Given the description of an element on the screen output the (x, y) to click on. 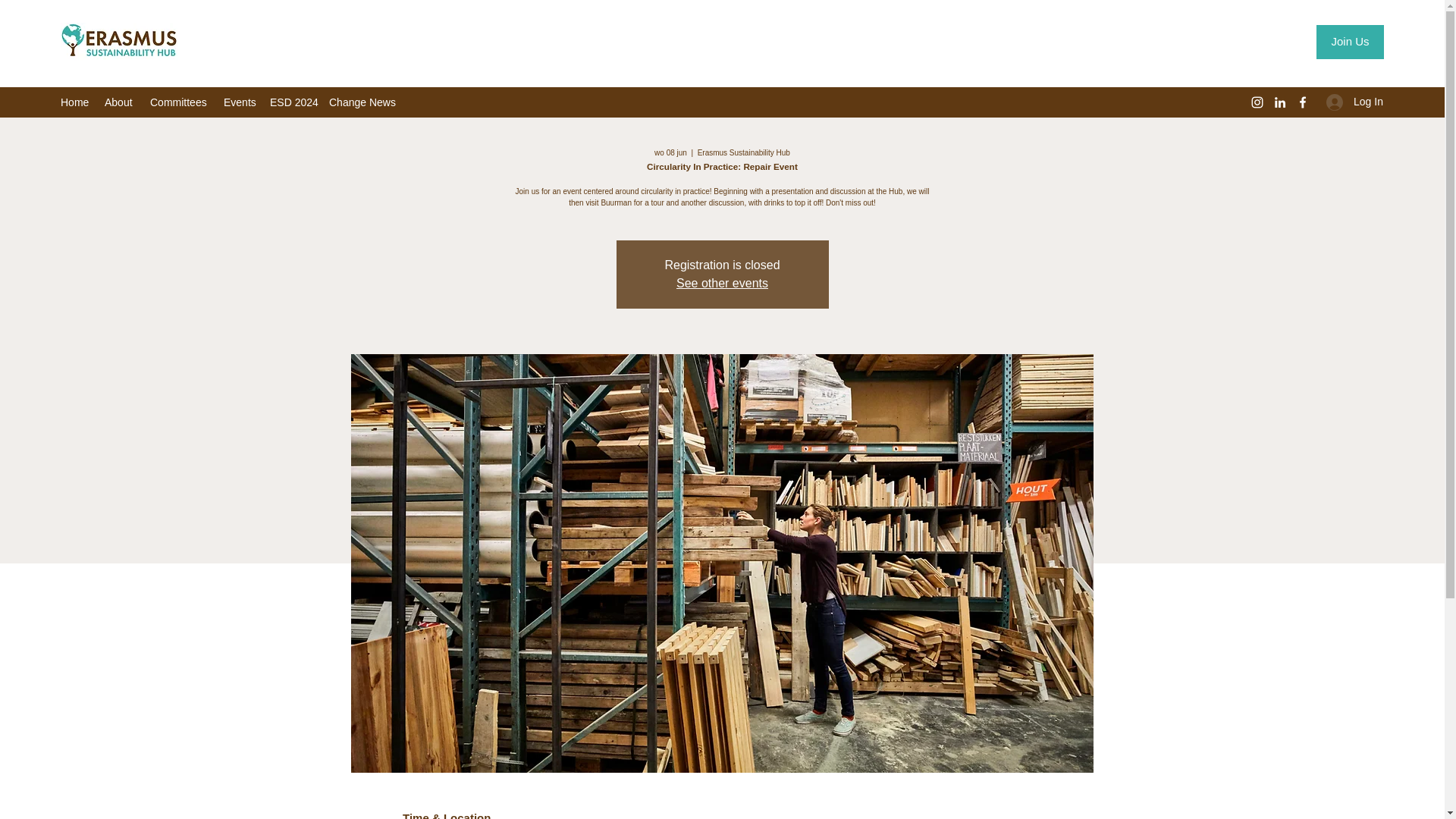
See other events (722, 282)
About (119, 101)
Home (74, 101)
Events (238, 101)
Change News (362, 101)
Join Us (1350, 41)
Committees (178, 101)
Log In (1350, 101)
ESD 2024 (291, 101)
